Given the description of an element on the screen output the (x, y) to click on. 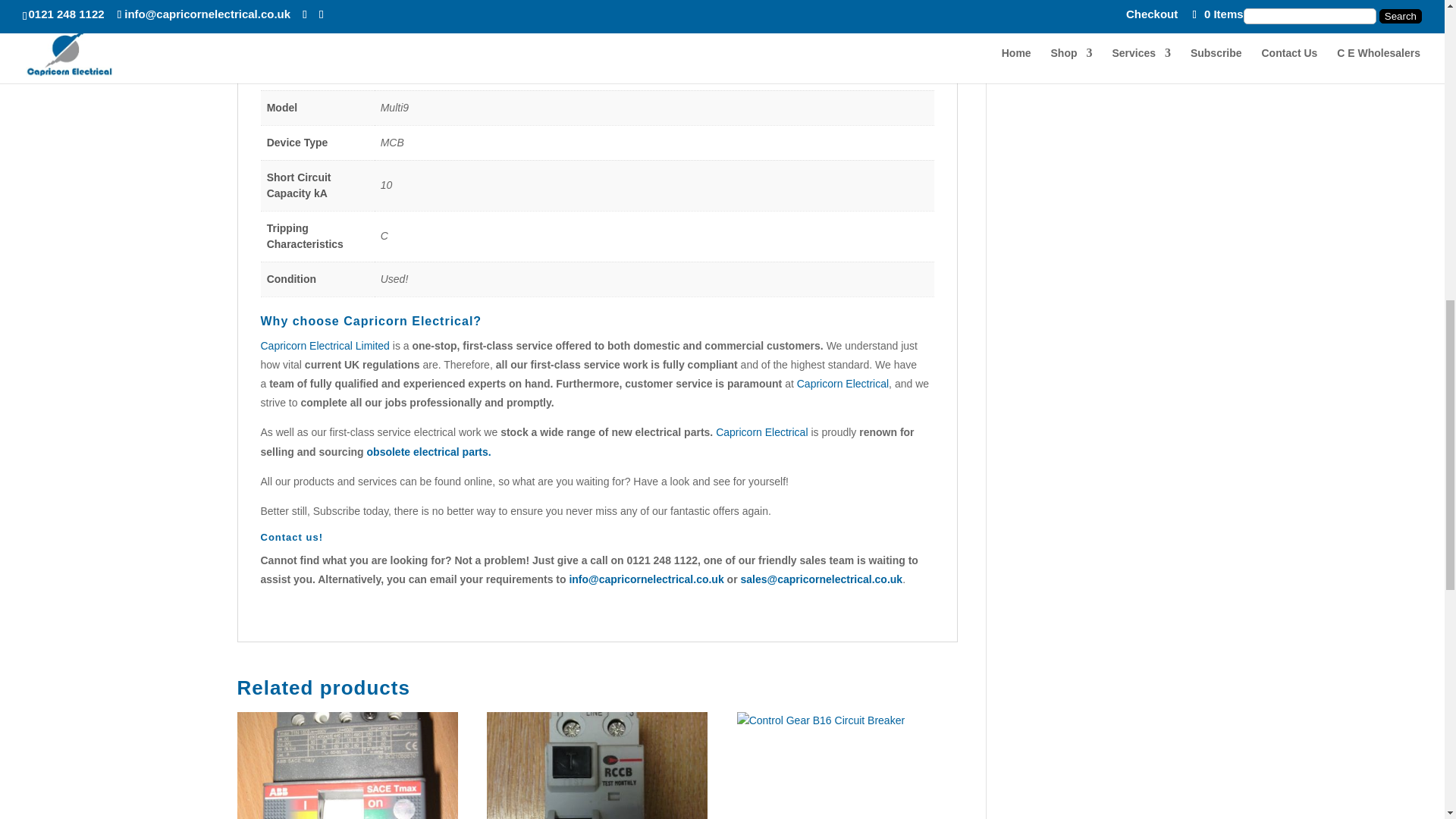
Capricorn Electrical? (412, 320)
Capricorn Electrical (762, 431)
obsolete electrical parts.  (430, 451)
Capricorn Electrical (842, 383)
Capricorn Electrical Limited (325, 345)
